Given the description of an element on the screen output the (x, y) to click on. 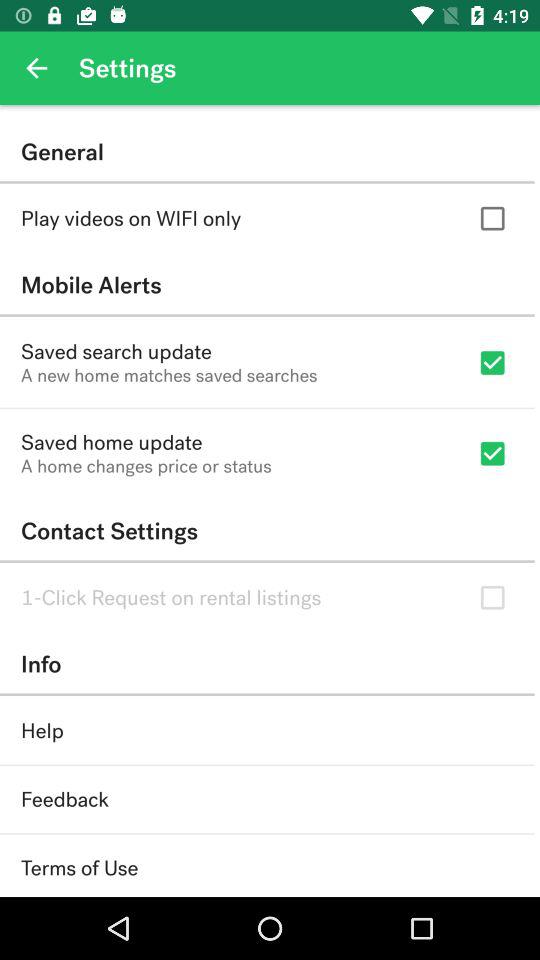
tap contact settings (267, 530)
